Given the description of an element on the screen output the (x, y) to click on. 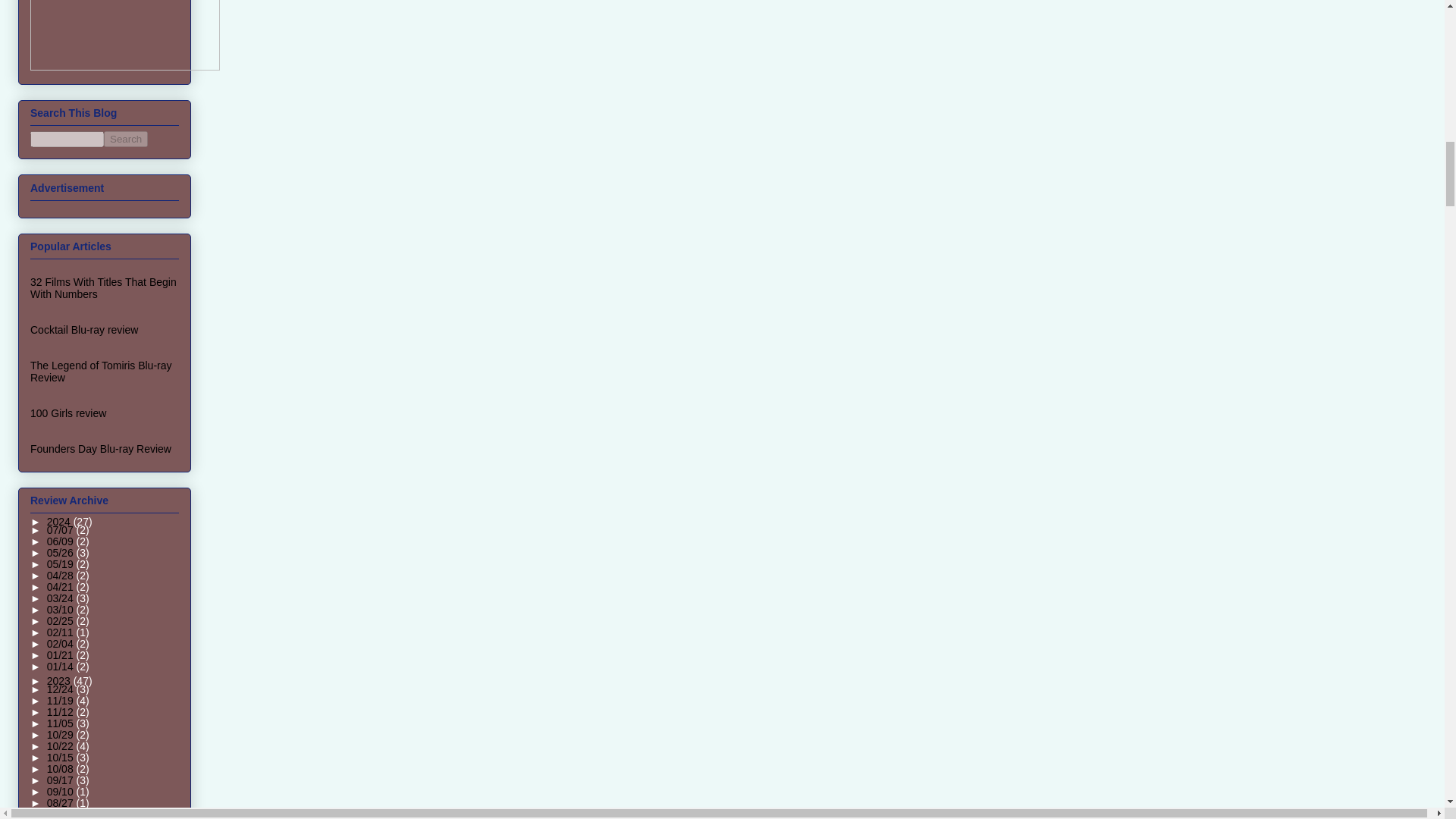
32 Films With Titles That Begin With Numbers (103, 288)
The Legend of Tomiris Blu-ray Review (100, 371)
100 Girls review (68, 413)
search (125, 139)
search (66, 139)
Cocktail Blu-ray review (84, 329)
Founders Day Blu-ray Review (100, 449)
Search (125, 139)
2024 (60, 521)
Search (125, 139)
Search (125, 139)
